Given the description of an element on the screen output the (x, y) to click on. 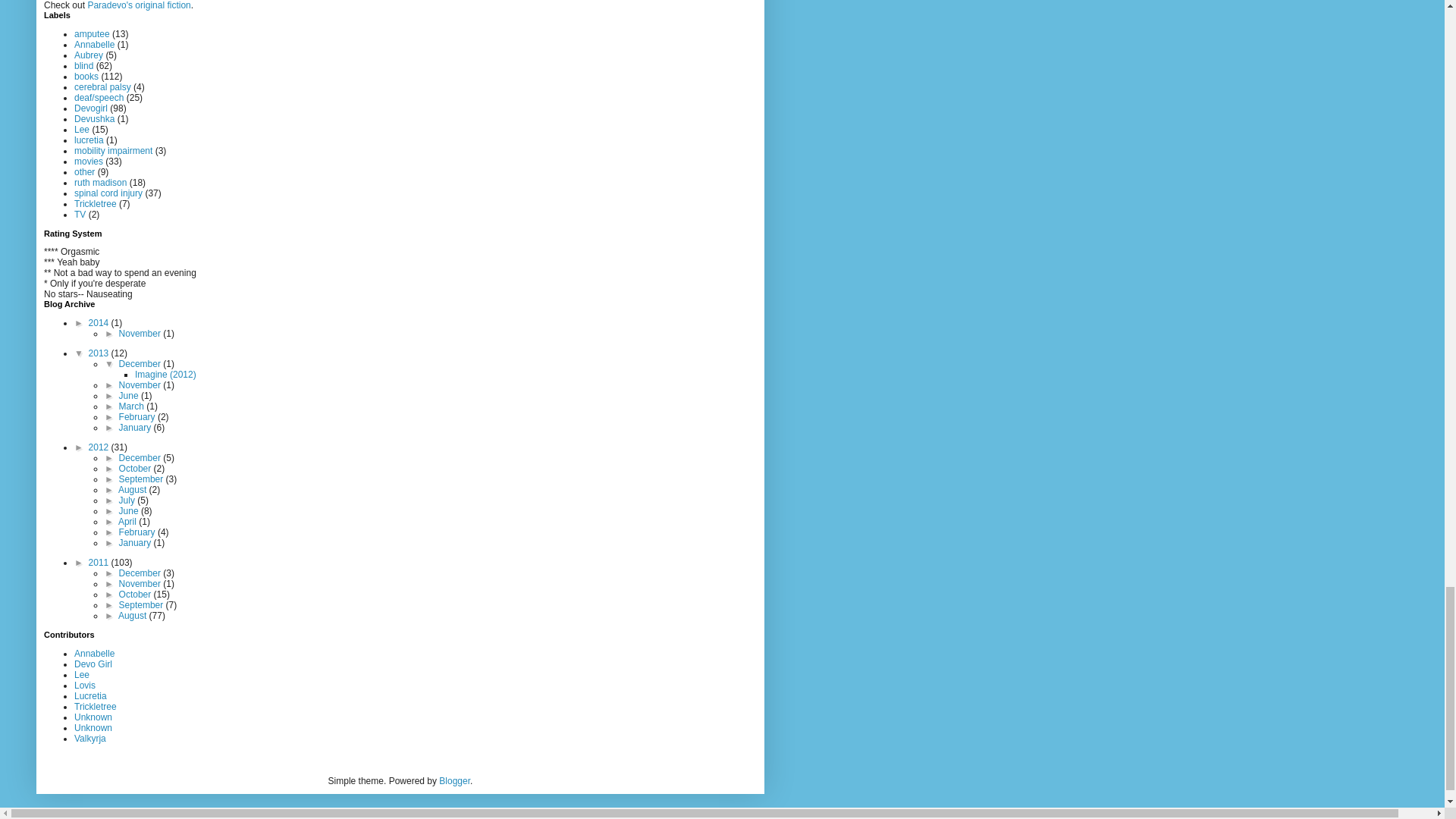
cerebral palsy (102, 86)
Annabelle (94, 44)
Devushka (94, 118)
books (86, 76)
Devogirl (90, 108)
amputee (92, 33)
Lee (81, 129)
Aubrey (88, 54)
Paradevo's original fiction (138, 5)
blind (83, 65)
